Given the description of an element on the screen output the (x, y) to click on. 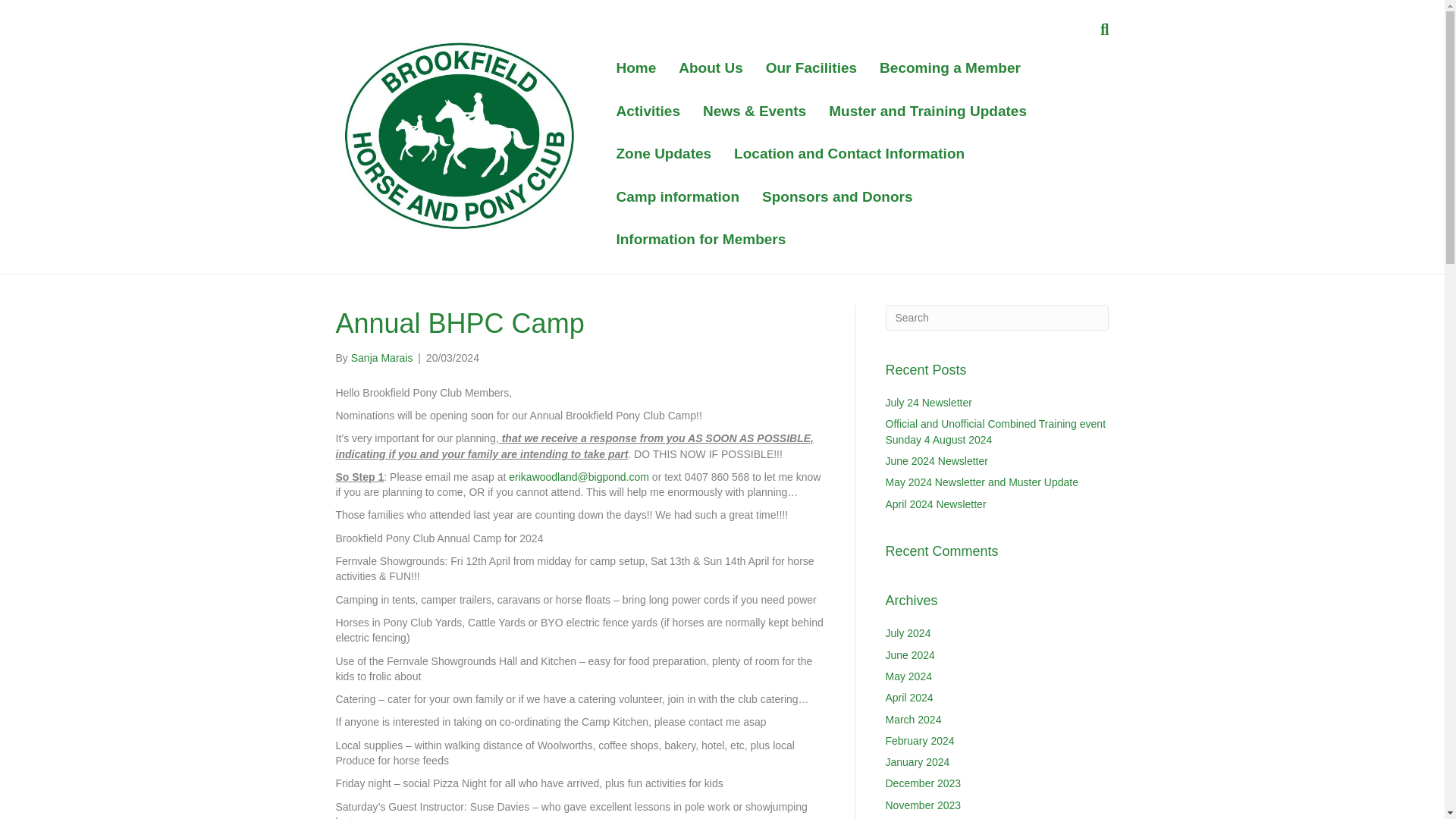
About Us (710, 68)
Our Facilities (810, 68)
Muster and Training Updates (927, 111)
Becoming a Member (949, 68)
Sanja Marais (381, 357)
Home (635, 68)
Information for Members (700, 239)
Zone Updates (663, 154)
July 24 Newsletter (928, 402)
May 2024 Newsletter and Muster Update (981, 481)
Location and Contact Information (848, 154)
Search (997, 317)
Activities (647, 111)
June 2024 Newsletter (936, 460)
